Given the description of an element on the screen output the (x, y) to click on. 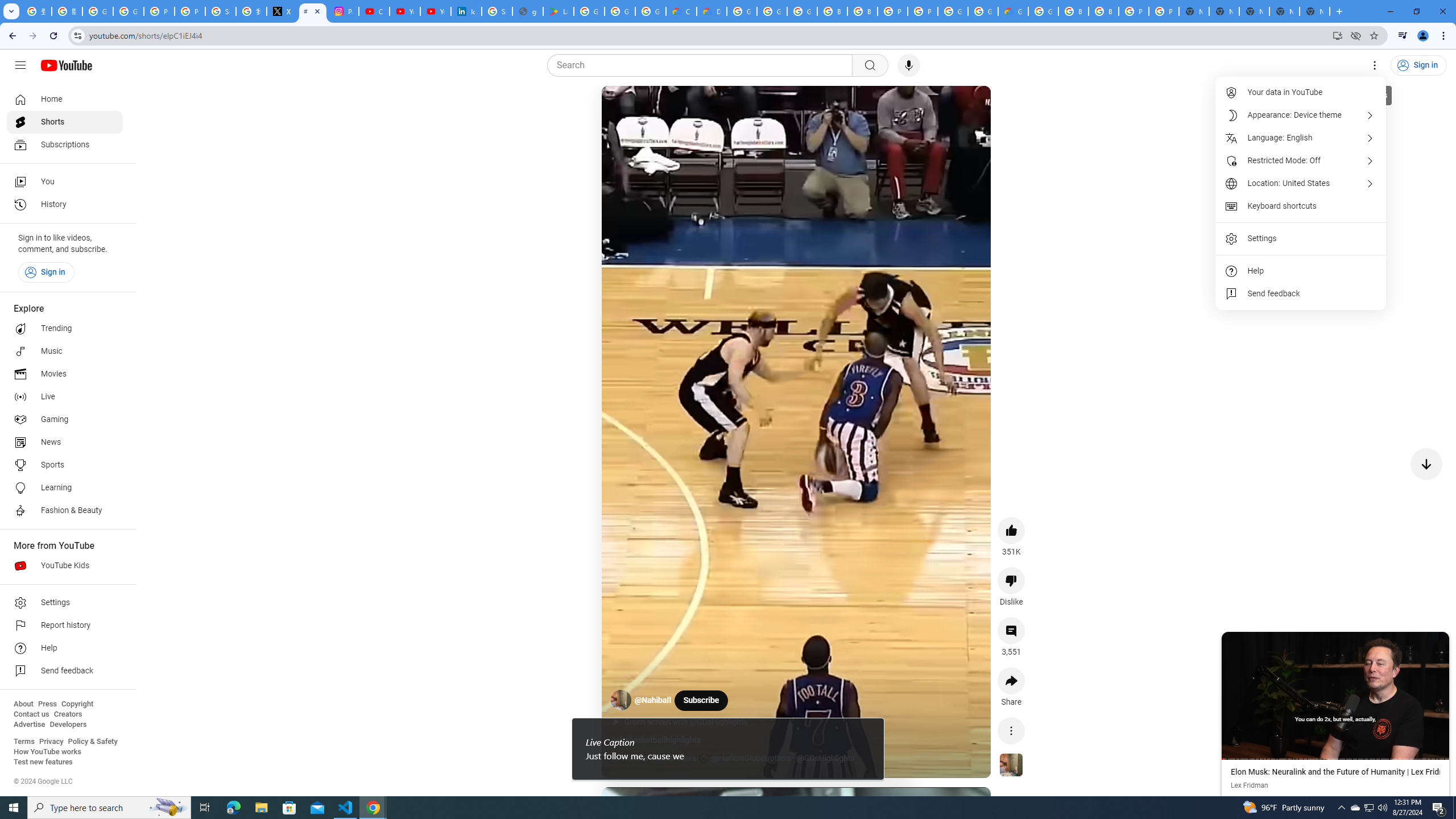
X (282, 11)
Sports (64, 464)
Sign in - Google Accounts (220, 11)
Contact us (31, 714)
About (23, 703)
Advertise (29, 724)
Google Cloud Estimate Summary (1012, 11)
Green screen with @GDsHighlights (692, 722)
google_privacy_policy_en.pdf (527, 11)
